Given the description of an element on the screen output the (x, y) to click on. 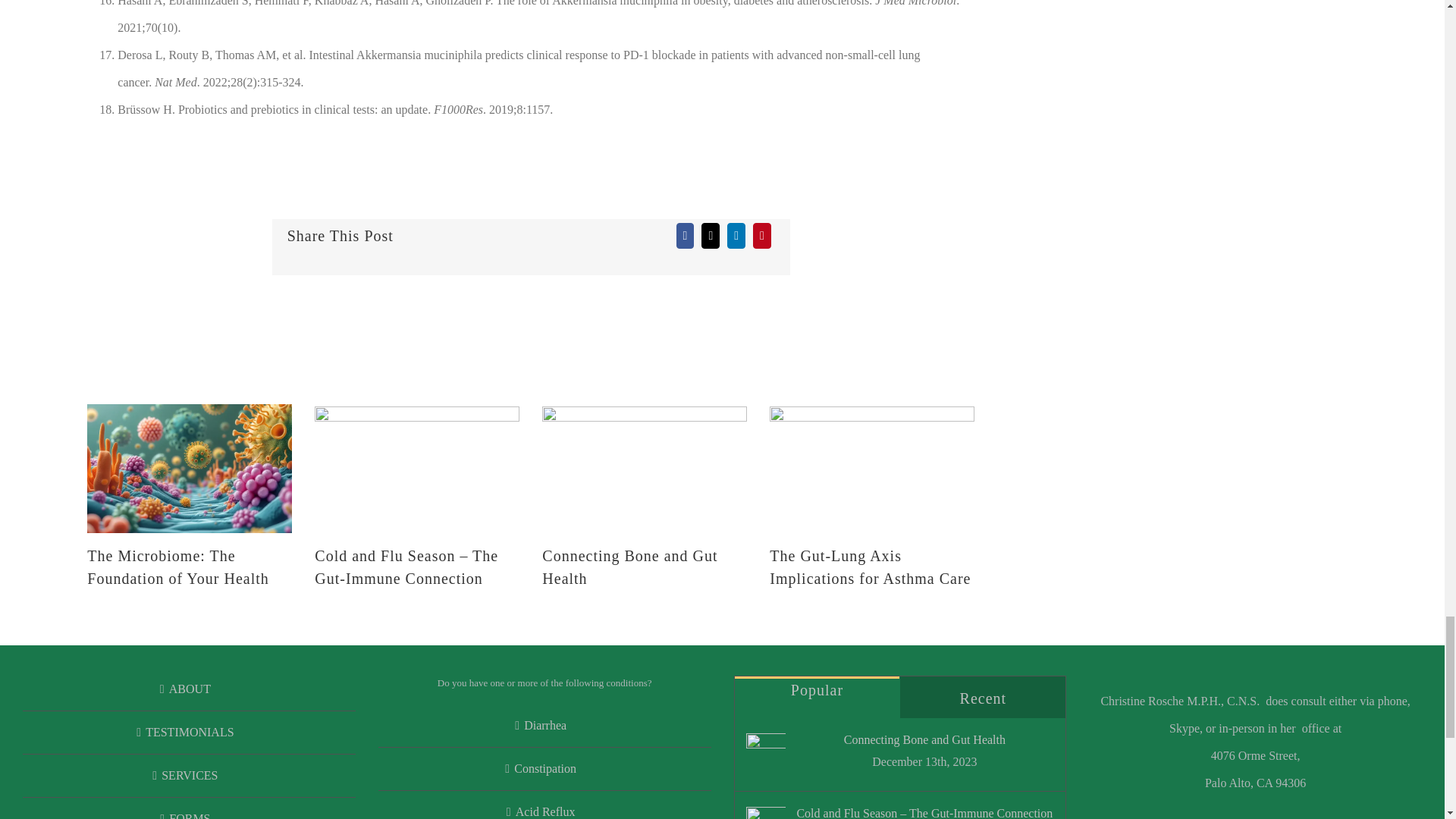
Connecting Bone and Gut Health (629, 567)
The Microbiome: The Foundation of Your Health (177, 567)
